Given the description of an element on the screen output the (x, y) to click on. 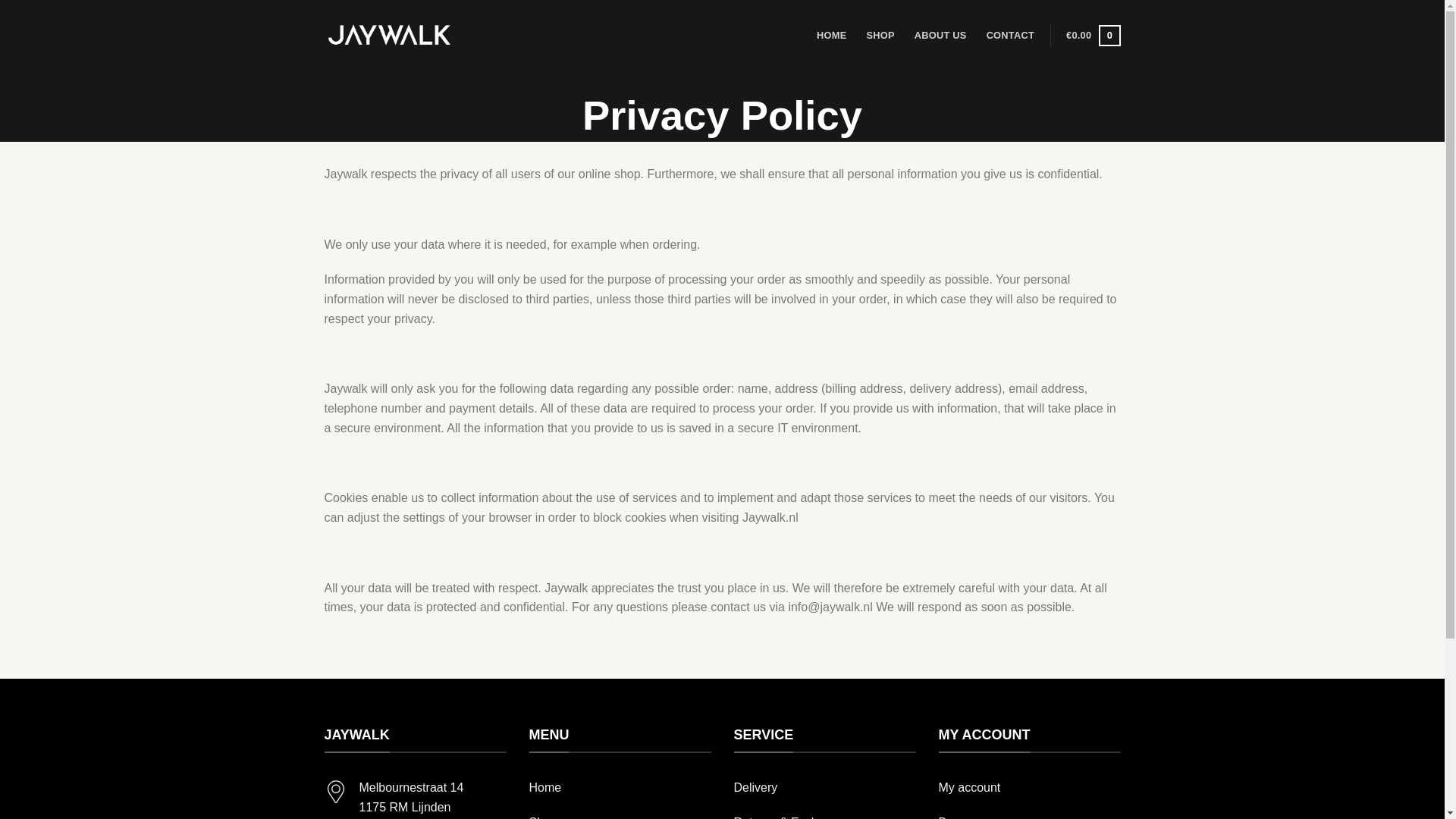
Home (545, 787)
ABOUT US (940, 35)
Shop (543, 817)
Cart (1092, 35)
SHOP (879, 35)
Delivery (755, 787)
CONTACT (1010, 35)
My account (970, 787)
Bag (949, 817)
HOME (830, 35)
